Given the description of an element on the screen output the (x, y) to click on. 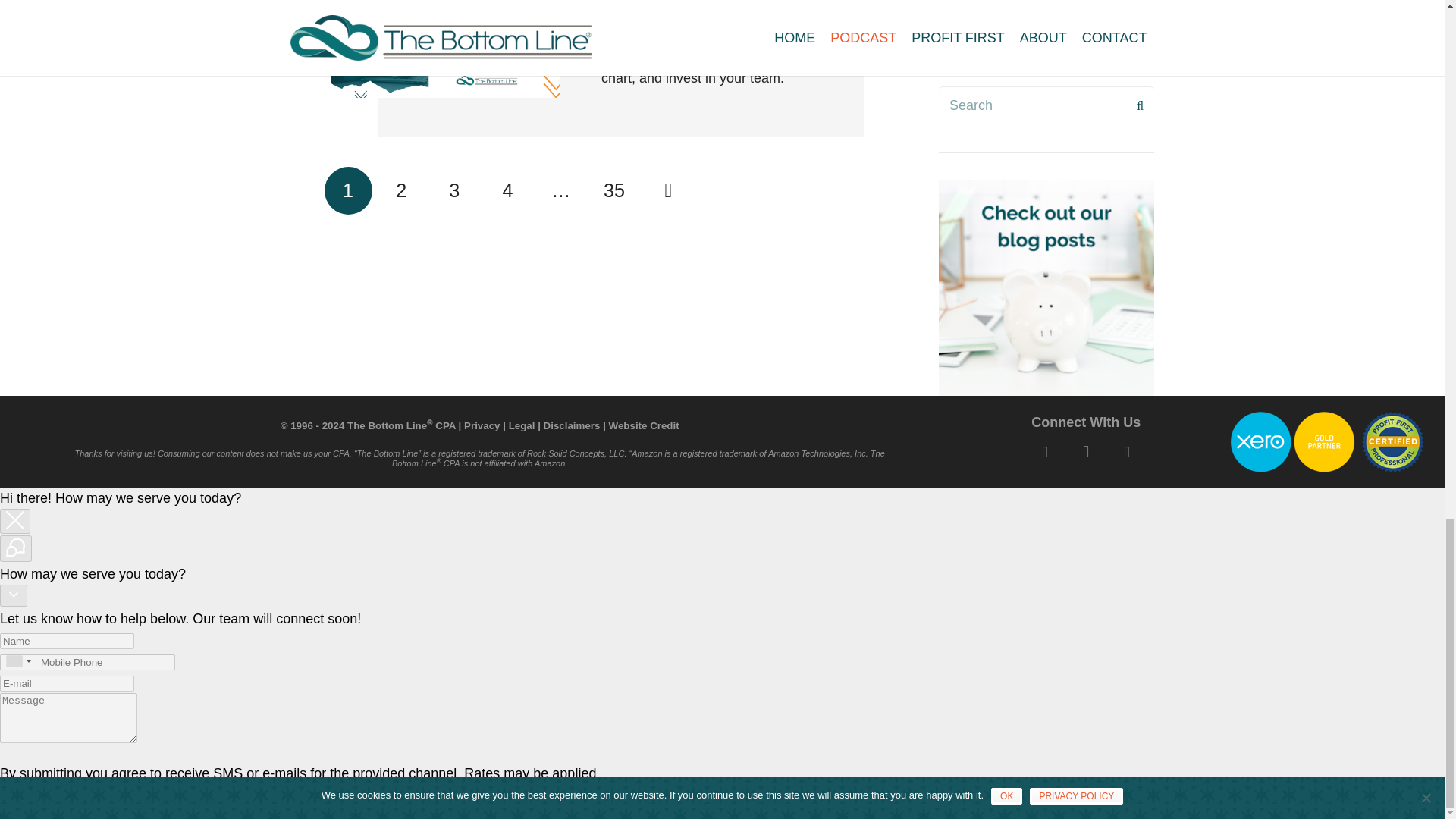
35 (613, 190)
Instagram (1086, 451)
Legal (521, 425)
Blog (1046, 287)
Disclaimers (571, 425)
Facebook (1045, 451)
Next (667, 190)
3 (454, 190)
Privacy (481, 425)
4 (507, 190)
2 (401, 190)
Website Credit (643, 425)
YouTube (1126, 451)
